Given the description of an element on the screen output the (x, y) to click on. 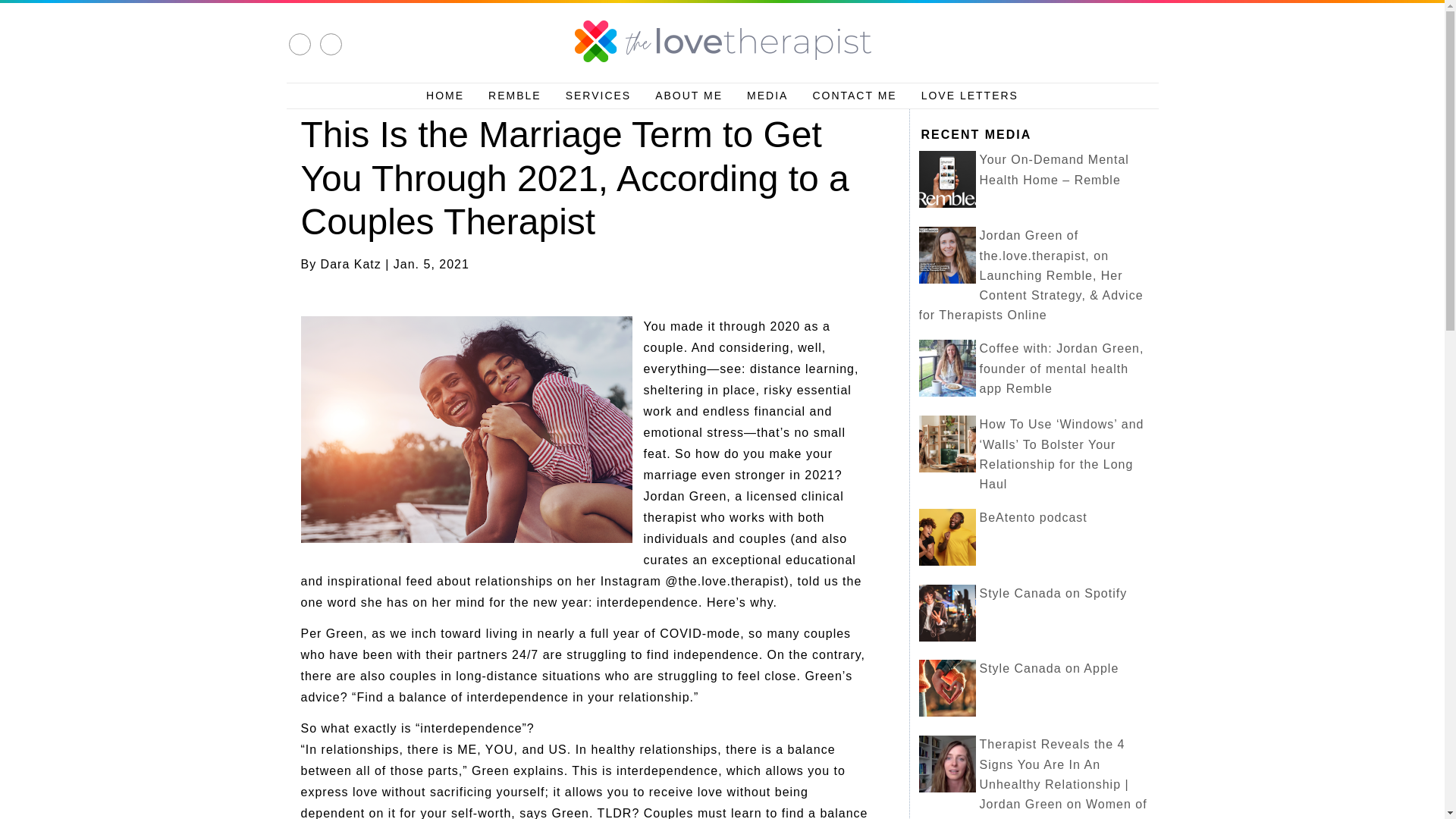
Contact Me (853, 95)
MEDIA (767, 95)
LOVE LETTERS (969, 95)
Style Canada on Spotify (1052, 593)
HOME (444, 95)
Media (767, 95)
jordan andrea (721, 41)
About Me (689, 95)
Services (598, 95)
ABOUT ME (689, 95)
HOME (444, 95)
SERVICES (598, 95)
REMBLE (514, 95)
CONTACT ME (853, 95)
